Given the description of an element on the screen output the (x, y) to click on. 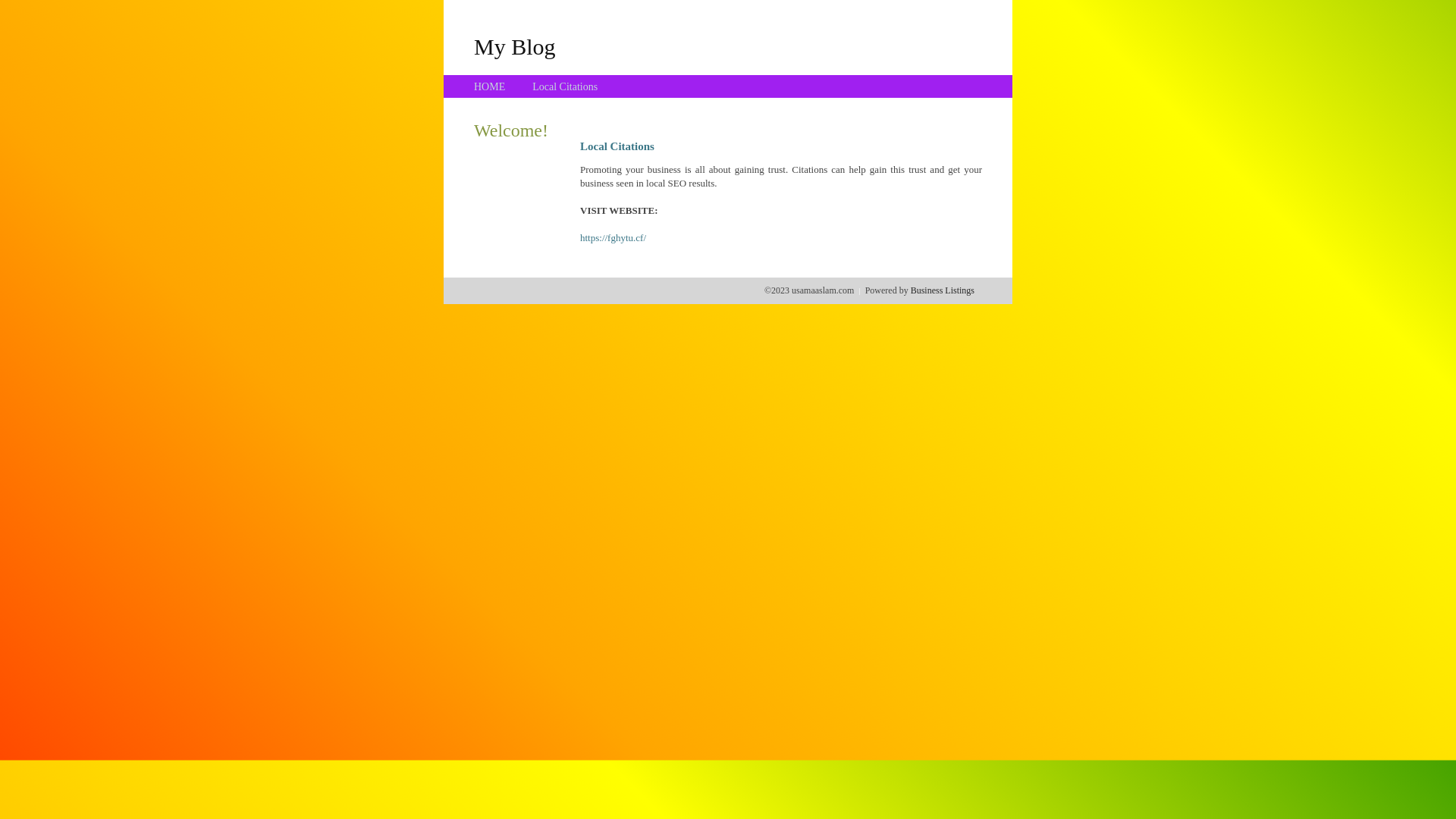
Local Citations Element type: text (564, 86)
HOME Element type: text (489, 86)
Business Listings Element type: text (942, 290)
My Blog Element type: text (514, 46)
https://fghytu.cf/ Element type: text (613, 237)
